Given the description of an element on the screen output the (x, y) to click on. 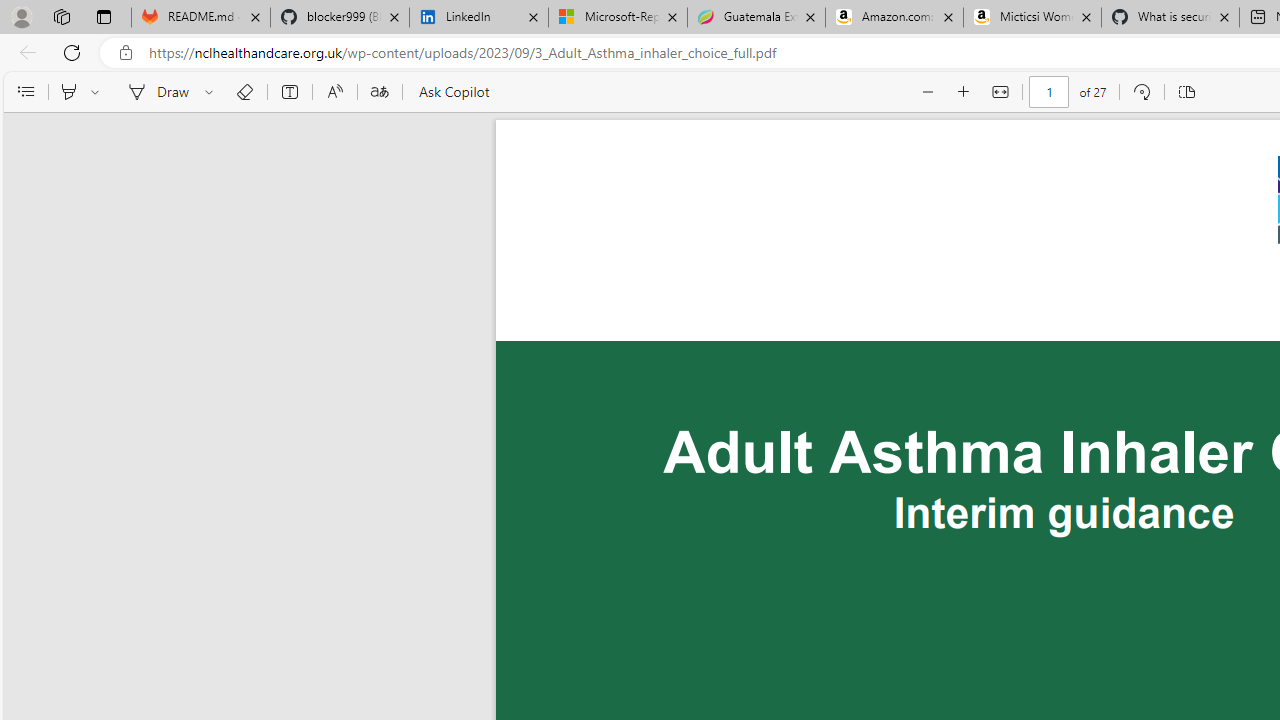
Draw (155, 92)
Translate (379, 92)
Page number (1049, 92)
Select ink properties (212, 92)
Zoom out (Ctrl+Minus key) (928, 92)
Ask Copilot (452, 92)
Read aloud (334, 92)
LinkedIn (478, 17)
Highlight (68, 92)
